Given the description of an element on the screen output the (x, y) to click on. 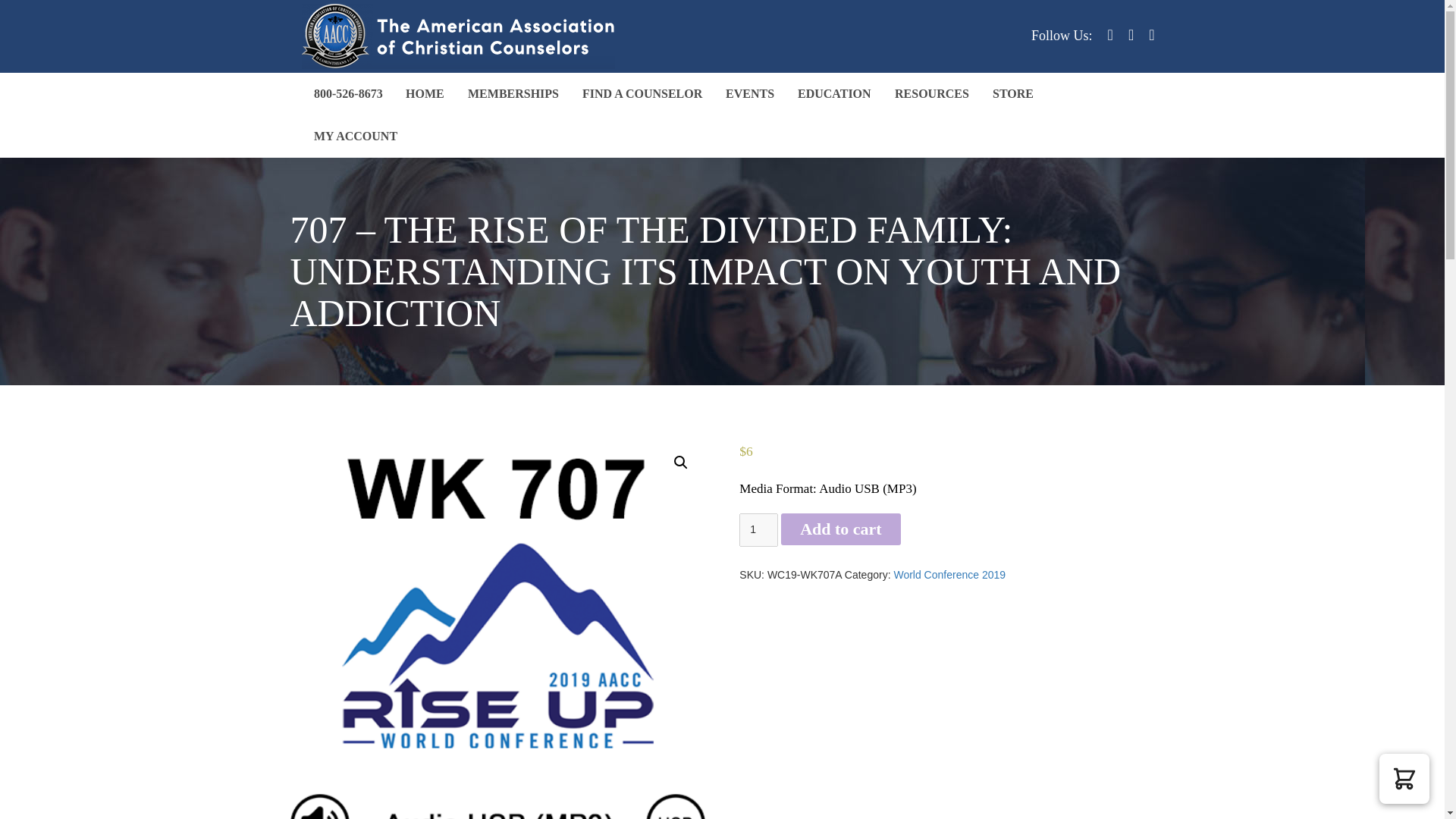
STORE (1013, 93)
Education (834, 93)
MEMBERSHIPS (513, 93)
1 (758, 530)
Store (1013, 93)
Events (750, 93)
Resources (931, 93)
Memberships (513, 93)
EDUCATION (834, 93)
800-526-8673 (347, 93)
RESOURCES (931, 93)
MY ACCOUNT (354, 136)
Find a Counselor (641, 93)
Home (424, 93)
EVENTS (750, 93)
